Given the description of an element on the screen output the (x, y) to click on. 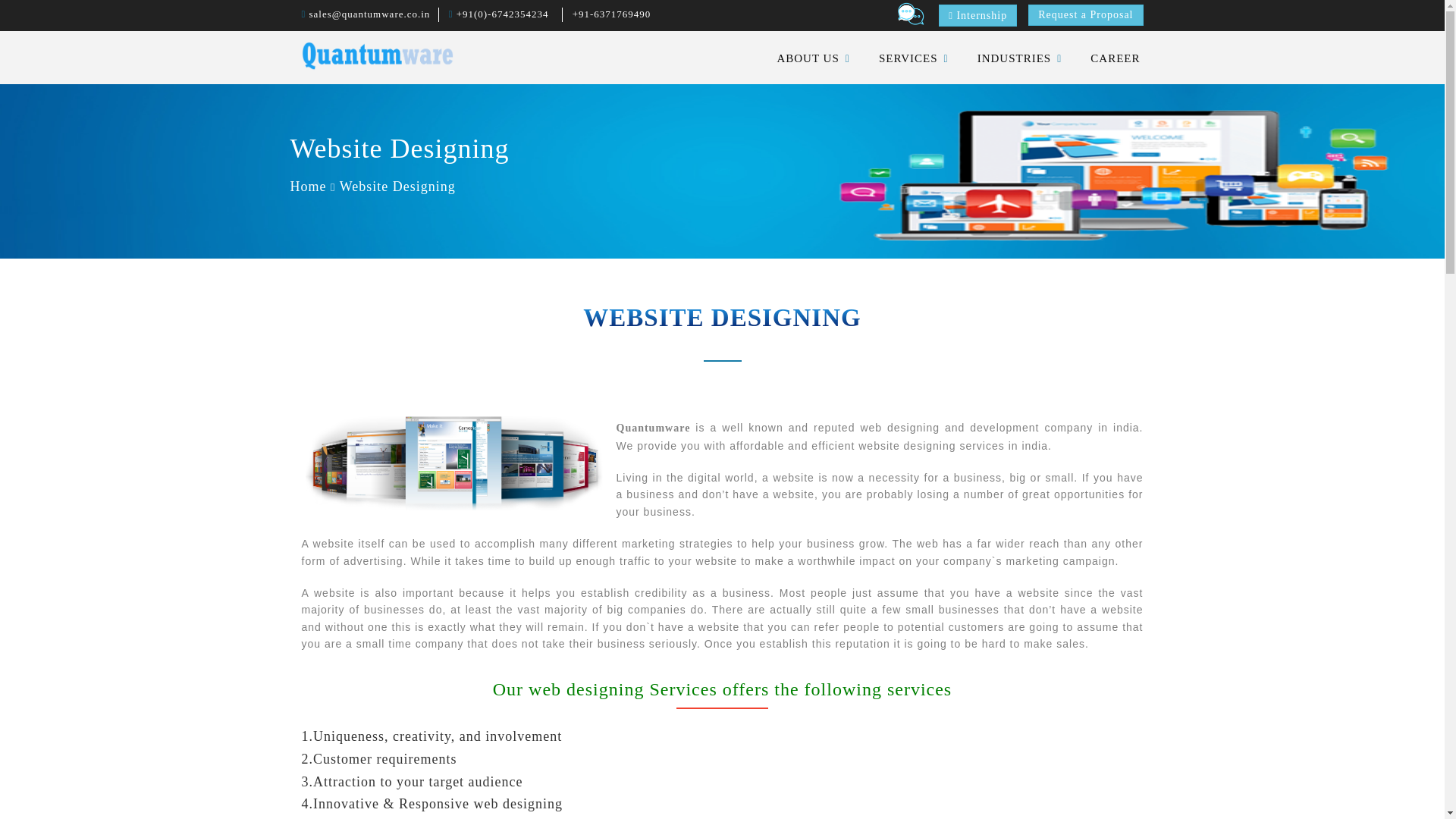
CAREER (1115, 58)
Request a Proposal (1084, 14)
Internship (977, 12)
Internship (977, 15)
Request a Proposal (1084, 11)
